Given the description of an element on the screen output the (x, y) to click on. 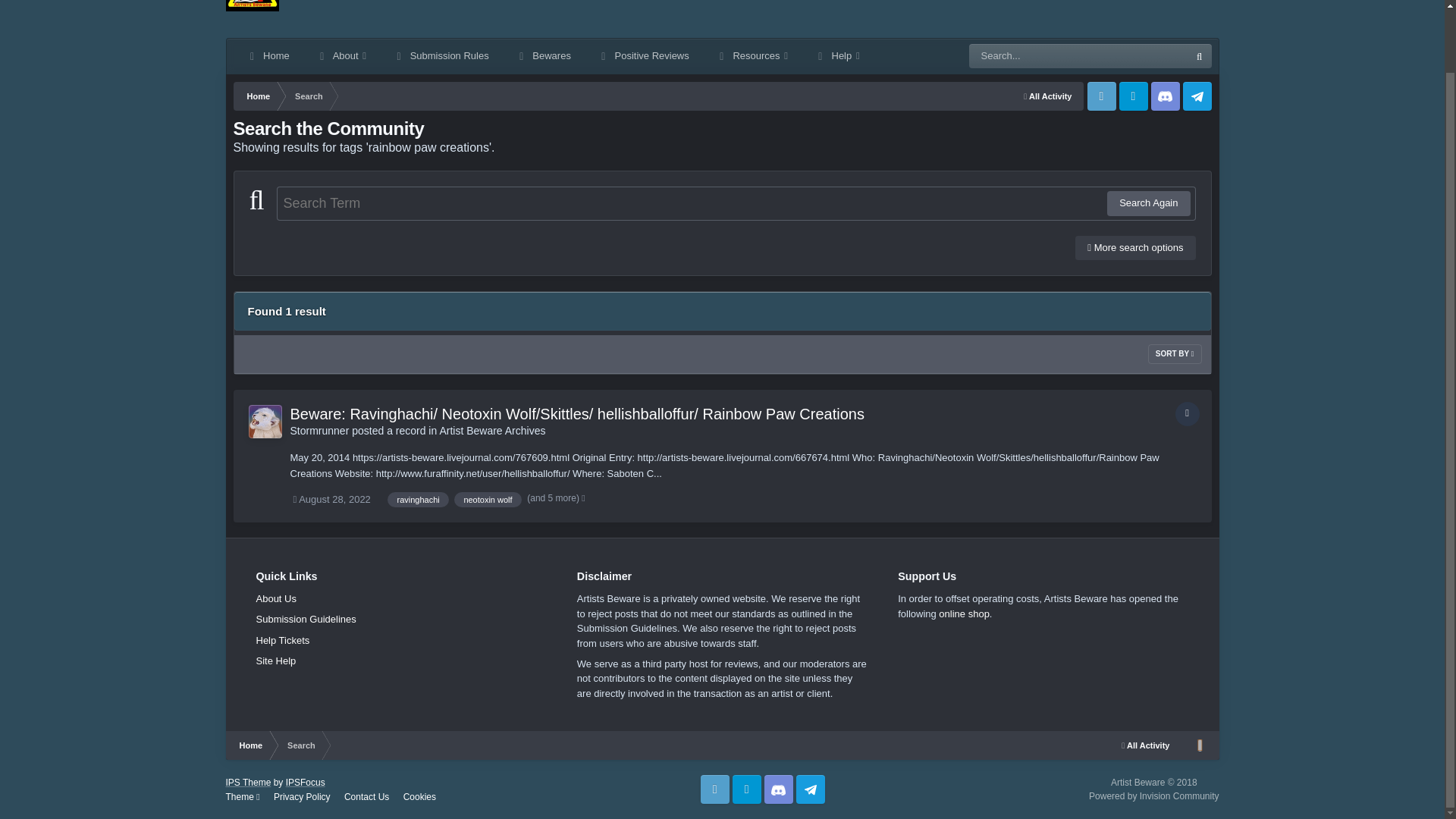
Positive Reviews (644, 55)
About (341, 55)
Find other content tagged with 'ravinghachi' (417, 499)
Home (267, 55)
Bewares (543, 55)
Go to Stormrunner's profile (319, 430)
Submission Rules (441, 55)
Go to Stormrunner's profile (265, 421)
Home (257, 95)
Resources (752, 55)
All Activity (1047, 95)
Find other content tagged with 'neotoxin wolf' (487, 499)
Record (1186, 413)
Home (257, 95)
Help (837, 55)
